Given the description of an element on the screen output the (x, y) to click on. 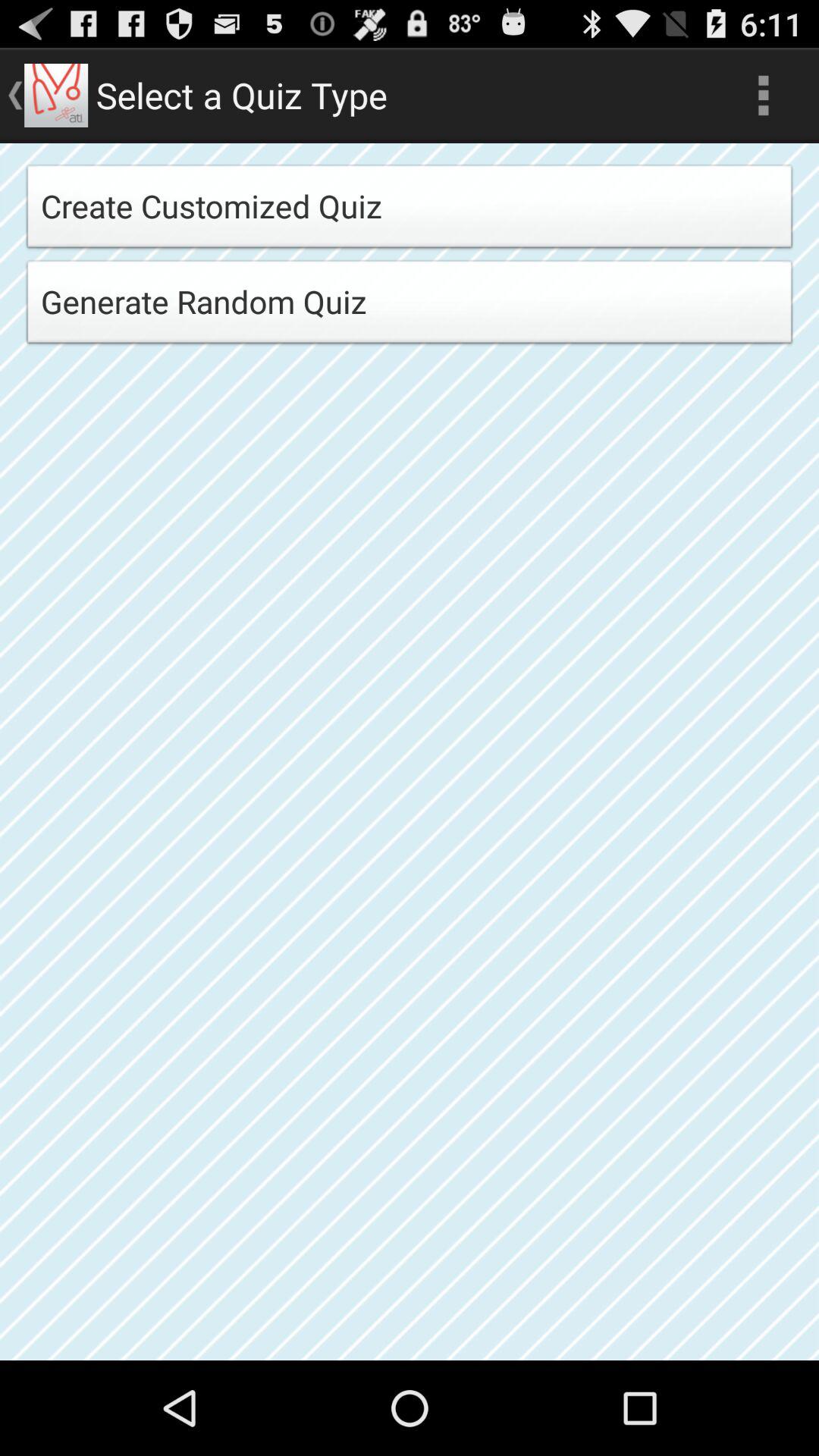
tap create customized quiz icon (409, 210)
